Given the description of an element on the screen output the (x, y) to click on. 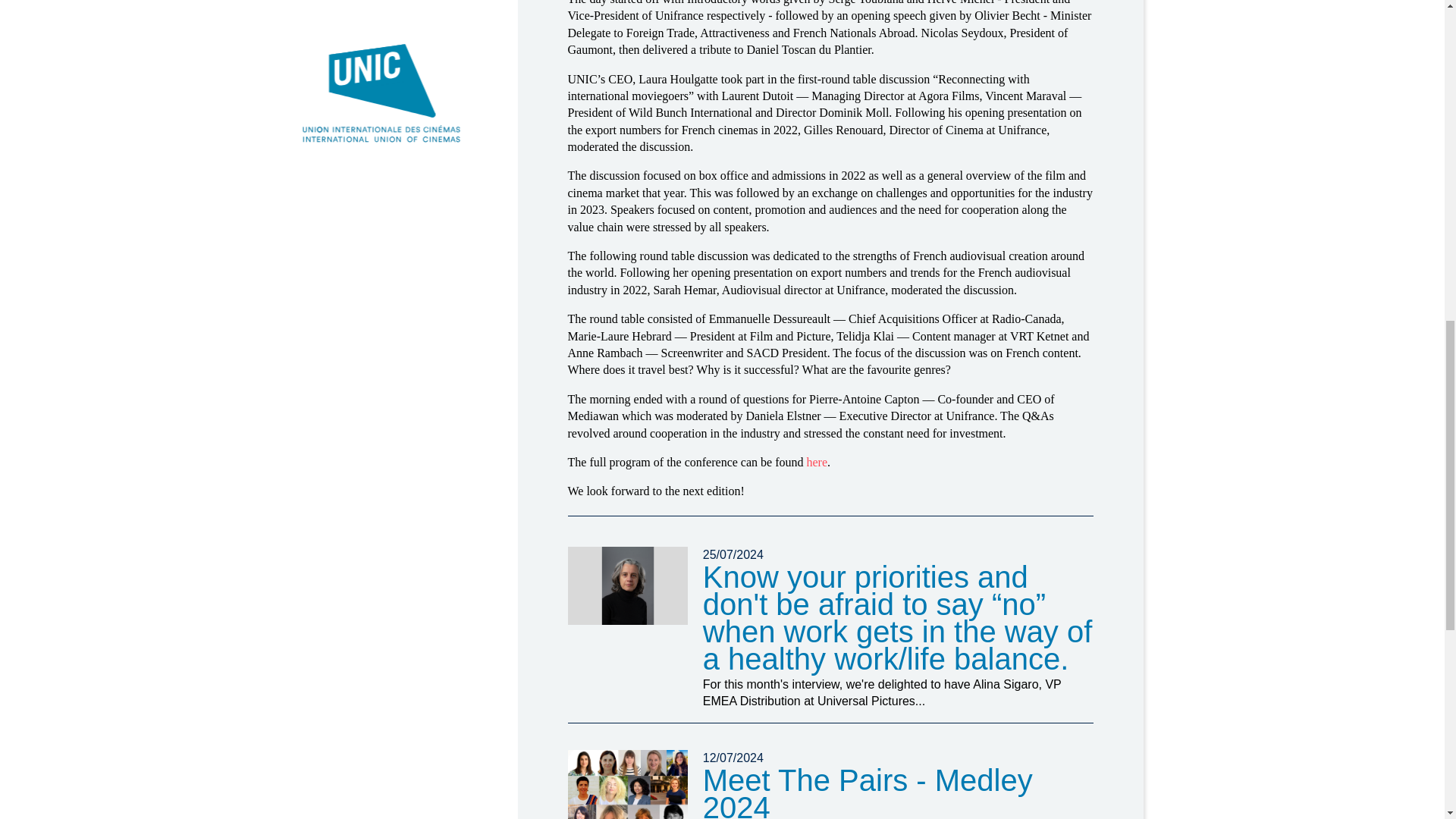
here (816, 461)
Meet The Pairs - Medley 2024 (627, 784)
Meet The Pairs - Medley 2024 (867, 791)
Meet The Pairs - Medley 2024 (867, 791)
